Given the description of an element on the screen output the (x, y) to click on. 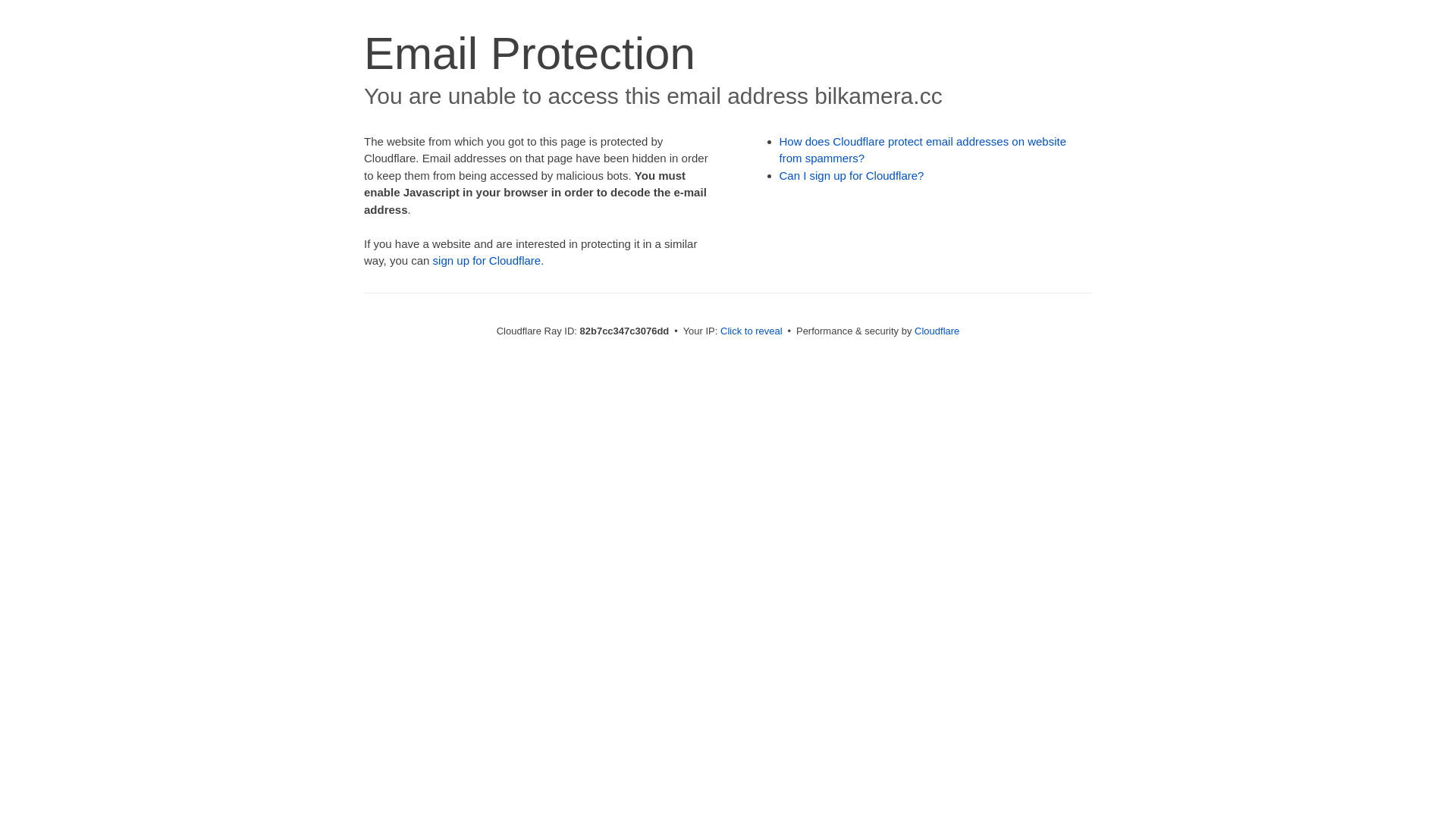
Click to reveal Element type: text (751, 330)
sign up for Cloudflare Element type: text (487, 260)
Can I sign up for Cloudflare? Element type: text (851, 175)
Cloudflare Element type: text (936, 330)
